Given the description of an element on the screen output the (x, y) to click on. 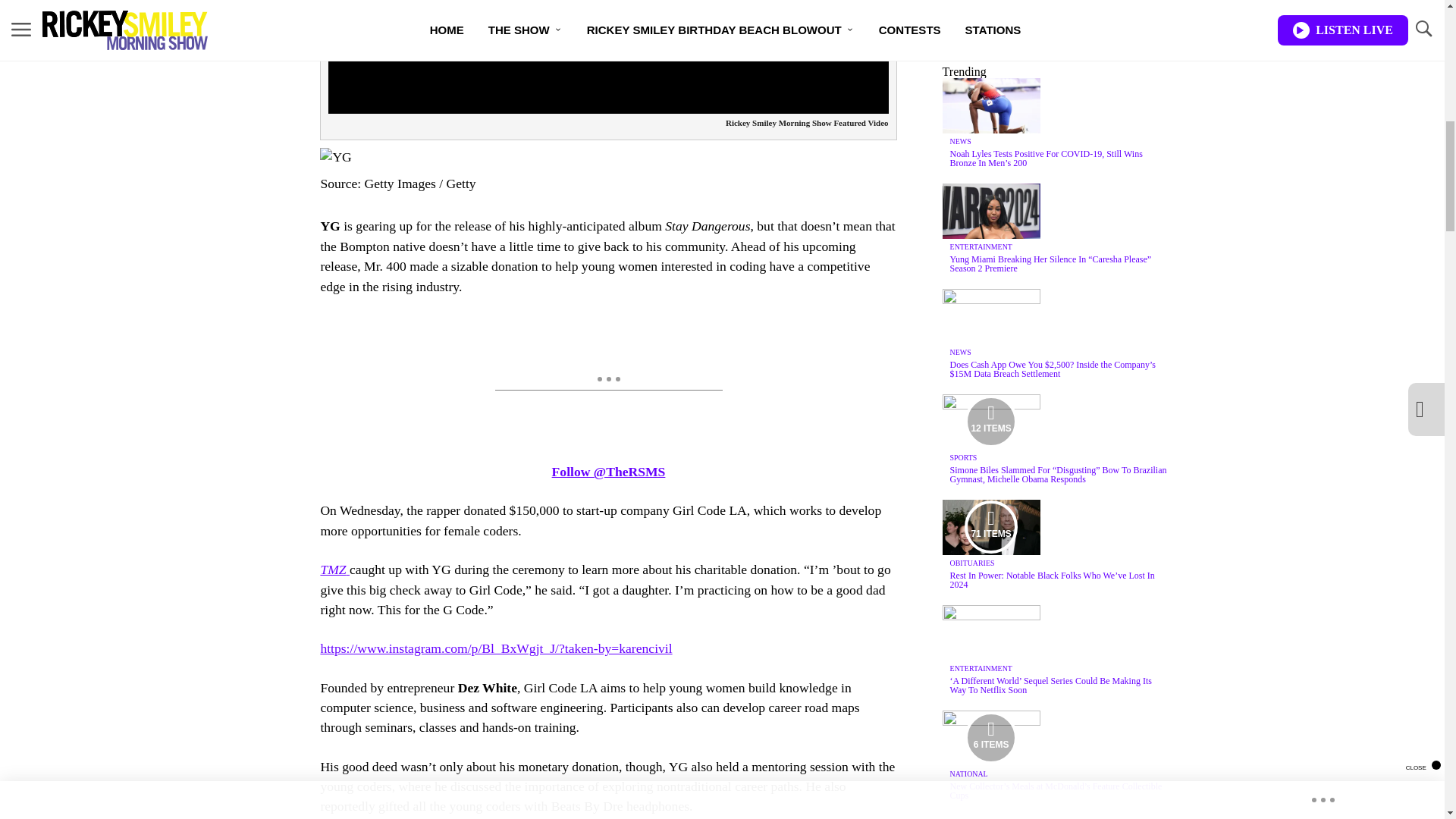
Media Playlist (990, 737)
TMZ  (334, 569)
Media Playlist (990, 526)
Media Playlist (990, 420)
